Given the description of an element on the screen output the (x, y) to click on. 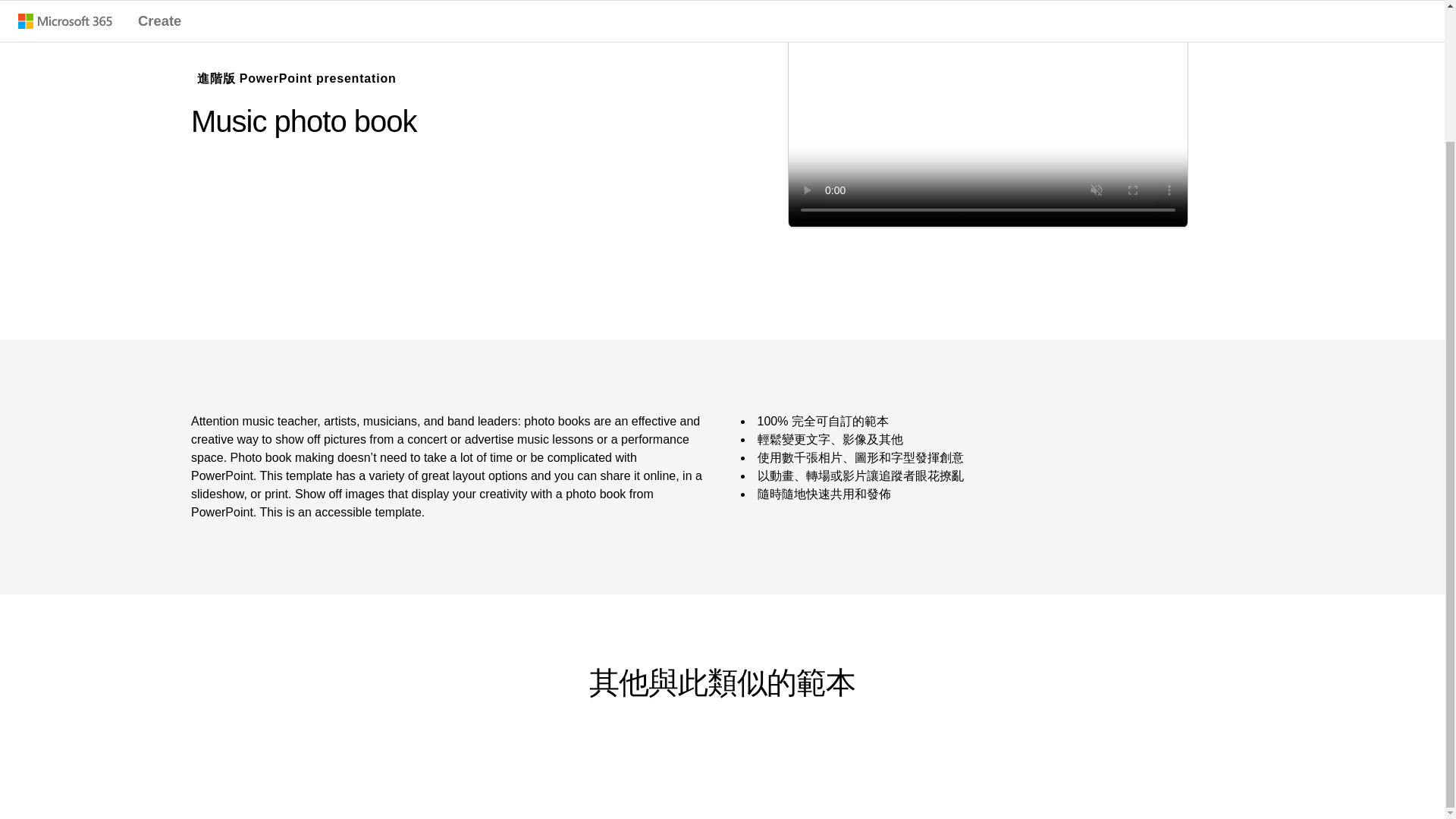
Music photo book  blue modern simple (988, 114)
